Given the description of an element on the screen output the (x, y) to click on. 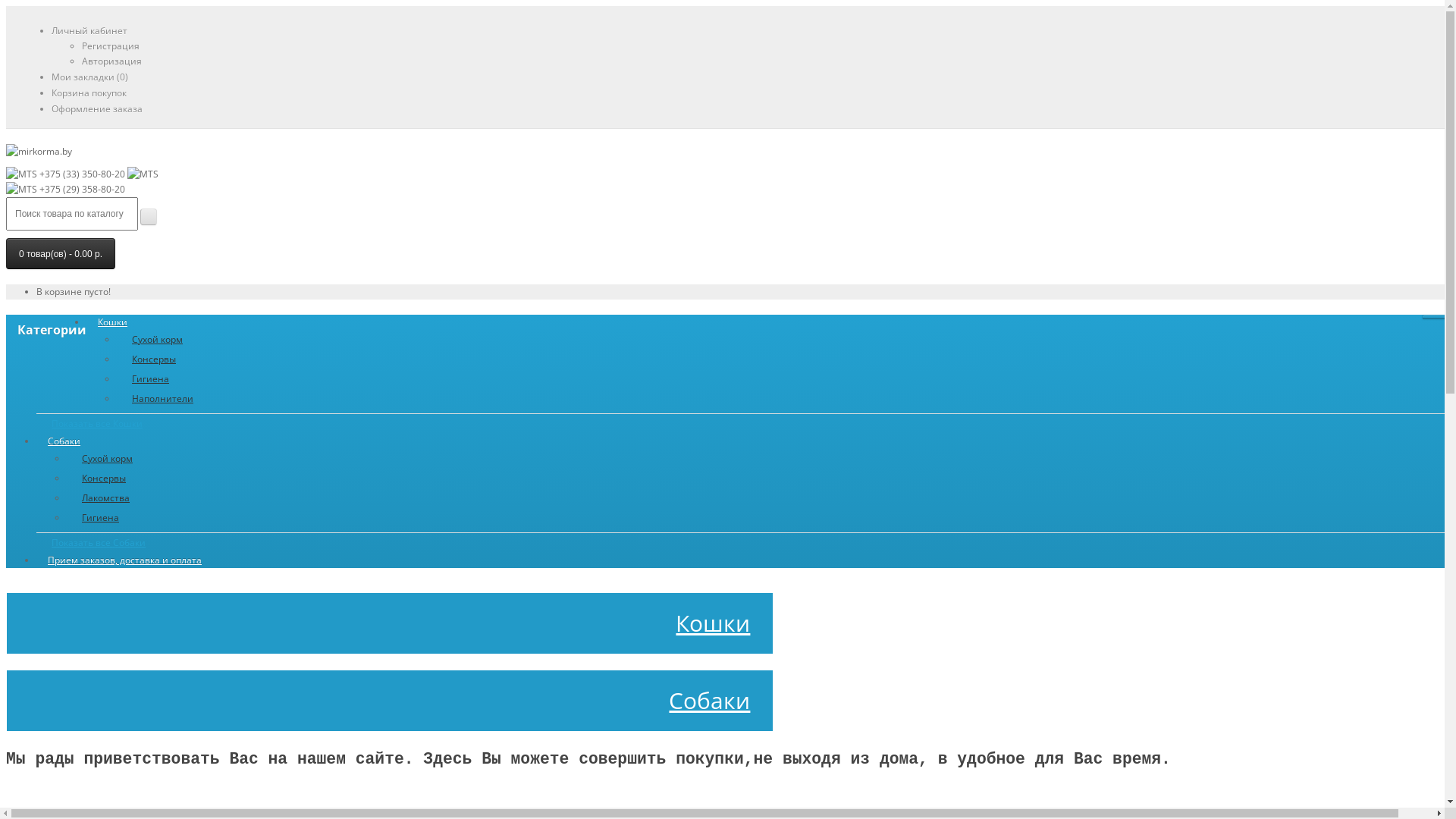
MTS Element type: hover (21, 189)
MTS Element type: hover (21, 174)
MTS Element type: hover (142, 174)
mirkorma.by Element type: hover (39, 151)
